Given the description of an element on the screen output the (x, y) to click on. 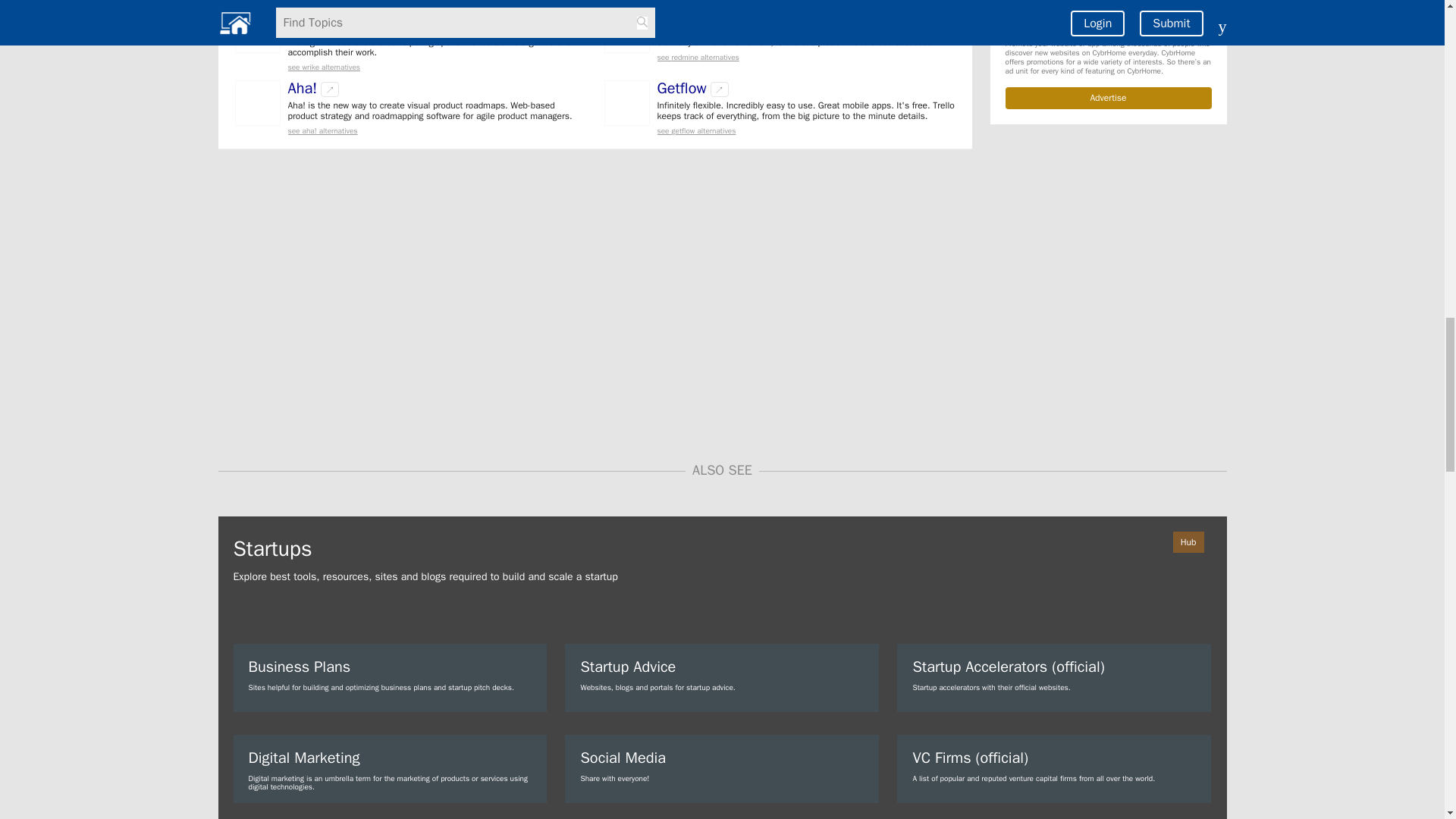
Share with everyone! (721, 768)
Redmine (685, 15)
Wrike (306, 15)
Getflow (681, 87)
Startup accelerators with their official websites. (1053, 677)
see wrike alternatives (437, 66)
Aha! (302, 87)
Advertisement (1108, 280)
see aha! alternatives (437, 130)
see redmine alternatives (805, 57)
Websites, blogs and portals for startup advice. (721, 677)
see getflow alternatives (805, 130)
